Given the description of an element on the screen output the (x, y) to click on. 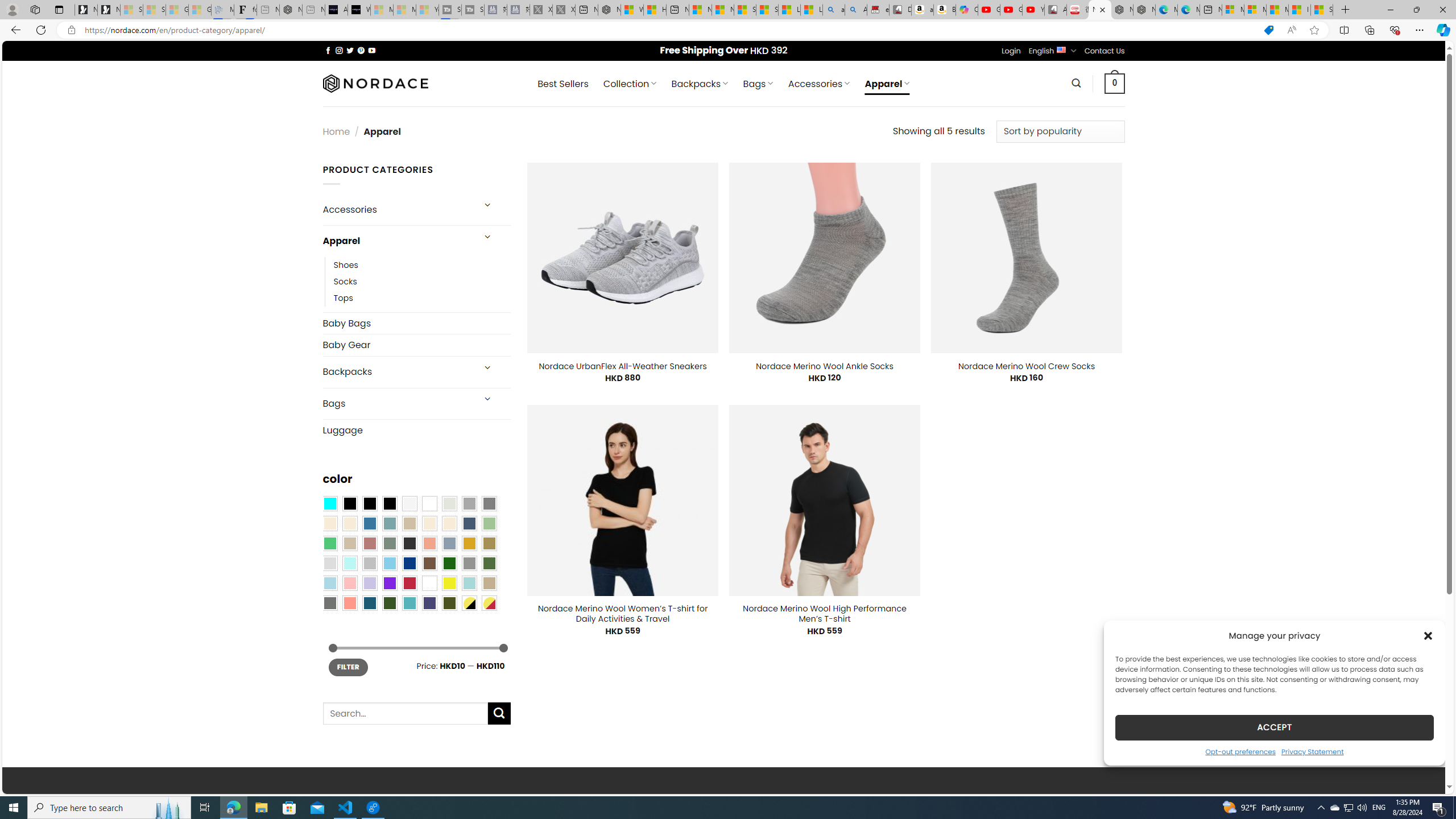
Sky Blue (389, 562)
Shop order (1060, 131)
Accessories (397, 209)
Caramel (429, 522)
Gray (468, 562)
Kelp (488, 542)
Tops (343, 297)
Bags (397, 403)
